Given the description of an element on the screen output the (x, y) to click on. 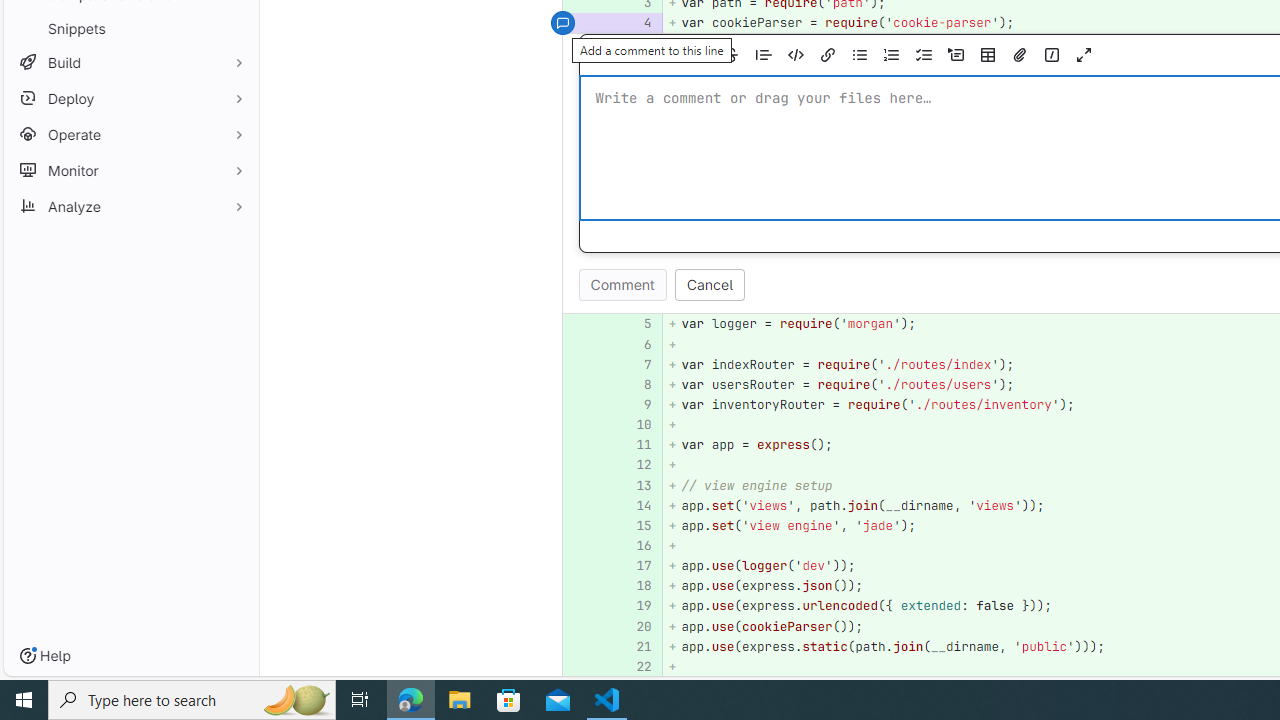
21 (637, 645)
Add a comment to this line (562, 665)
16 (637, 545)
Add a link (Ctrl+K) (827, 55)
Cancel (710, 285)
20 (633, 626)
Add a quick action (1051, 55)
7 (633, 364)
7 (637, 364)
14 (637, 505)
Comment (622, 285)
11 (633, 444)
Class: s12 (562, 664)
Add a collapsible section (955, 55)
Add a bullet list (859, 55)
